Given the description of an element on the screen output the (x, y) to click on. 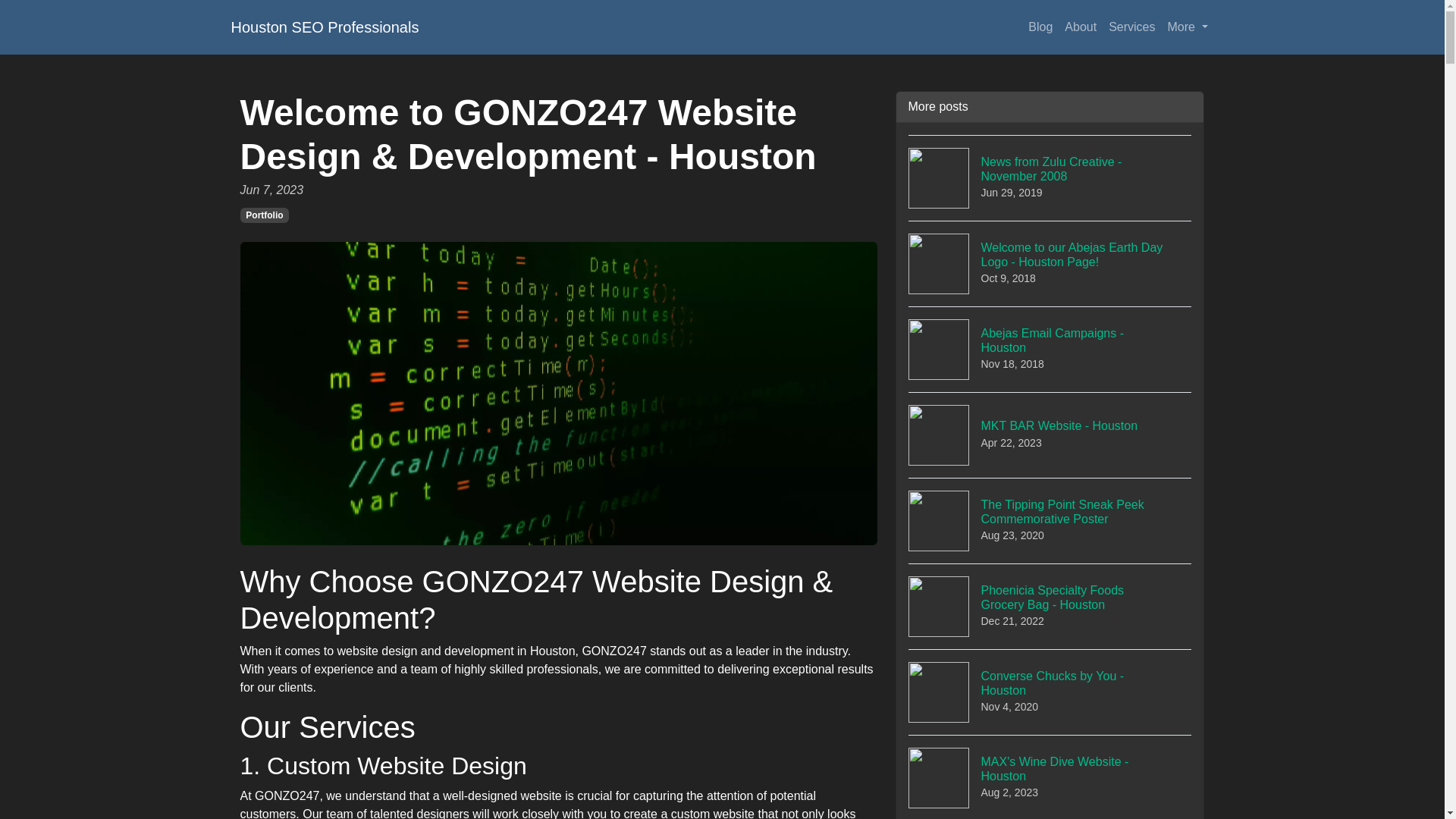
Houston SEO Professionals (1050, 349)
Services (324, 27)
Blog (1131, 27)
More (1040, 27)
About (1187, 27)
Portfolio (1050, 691)
